Given the description of an element on the screen output the (x, y) to click on. 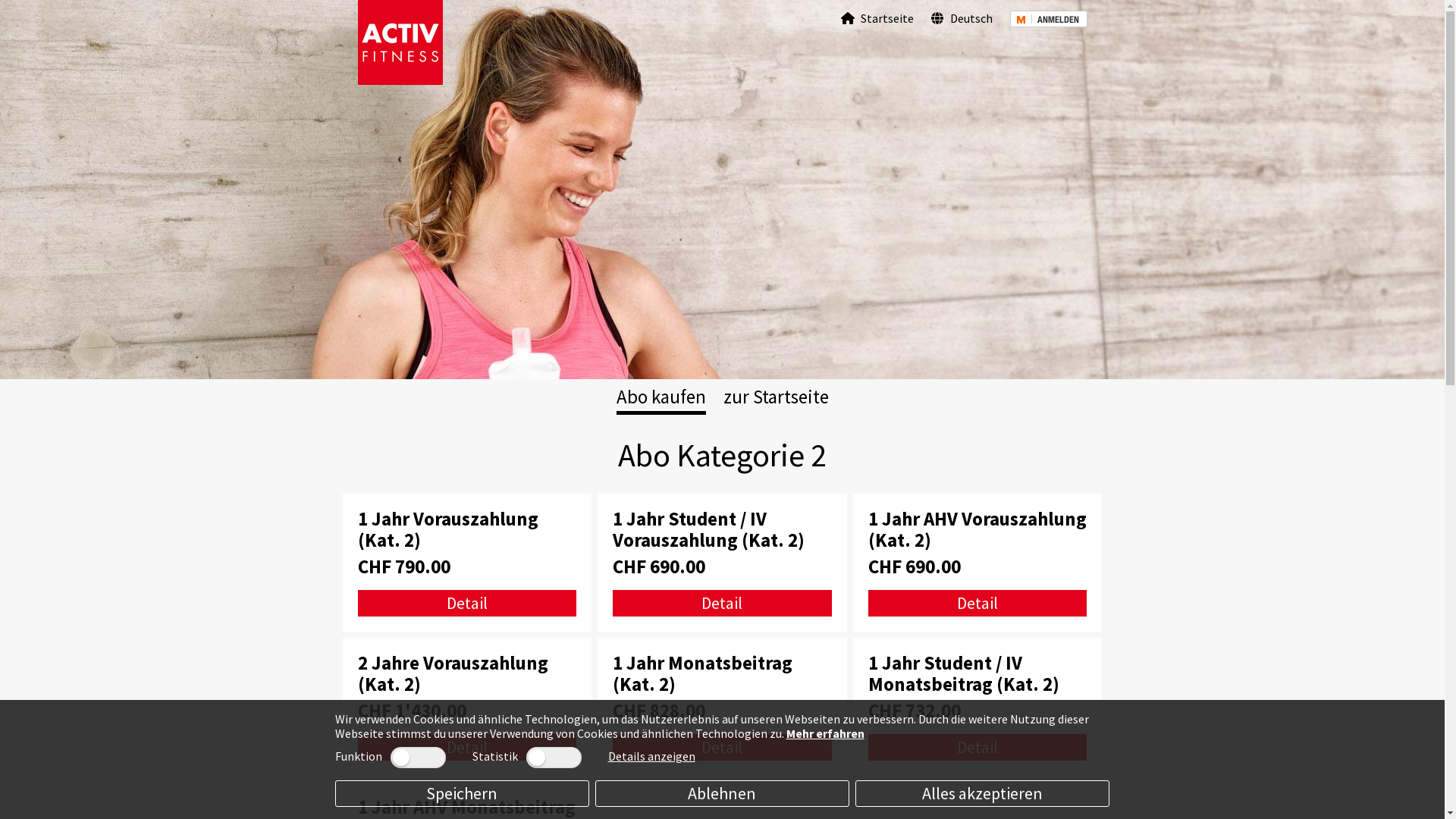
1 Jahr AHV Vorauszahlung (Kat. 2)
CHF 690.00
Detail Element type: text (977, 562)
Abo kaufen Element type: text (660, 396)
Startseite Element type: text (876, 18)
1 Jahr Vorauszahlung (Kat. 2)
CHF 790.00
Detail Element type: text (467, 562)
zur Startseite Element type: text (775, 396)
1 Jahr Monatsbeitrag (Kat. 2)
CHF 828.00
Detail Element type: text (722, 706)
Details anzeigen Element type: text (651, 755)
Mehr erfahren Element type: text (824, 732)
1 Jahr Student / IV Vorauszahlung (Kat. 2)
CHF 690.00
Detail Element type: text (722, 562)
2 Jahre Vorauszahlung (Kat. 2)
CHF 1'430.00
Detail Element type: text (467, 706)
1 Jahr Student / IV Monatsbeitrag (Kat. 2)
CHF 732.00
Detail Element type: text (977, 706)
ANMELDEN Element type: text (1048, 18)
